Given the description of an element on the screen output the (x, y) to click on. 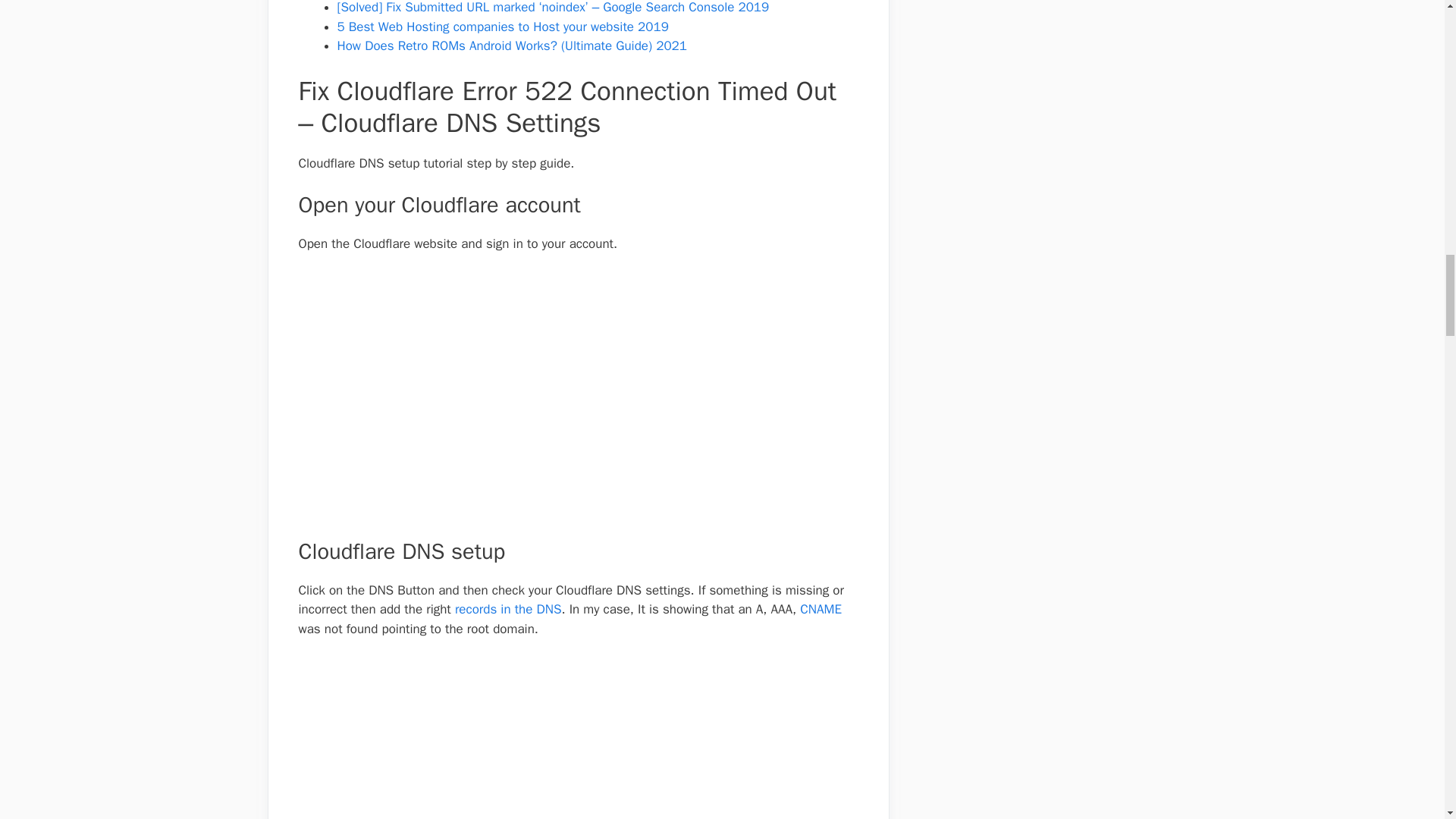
CNAME (820, 609)
records in the DNS (508, 609)
5 Best Web Hosting companies to Host your website 2019 (502, 26)
